Given the description of an element on the screen output the (x, y) to click on. 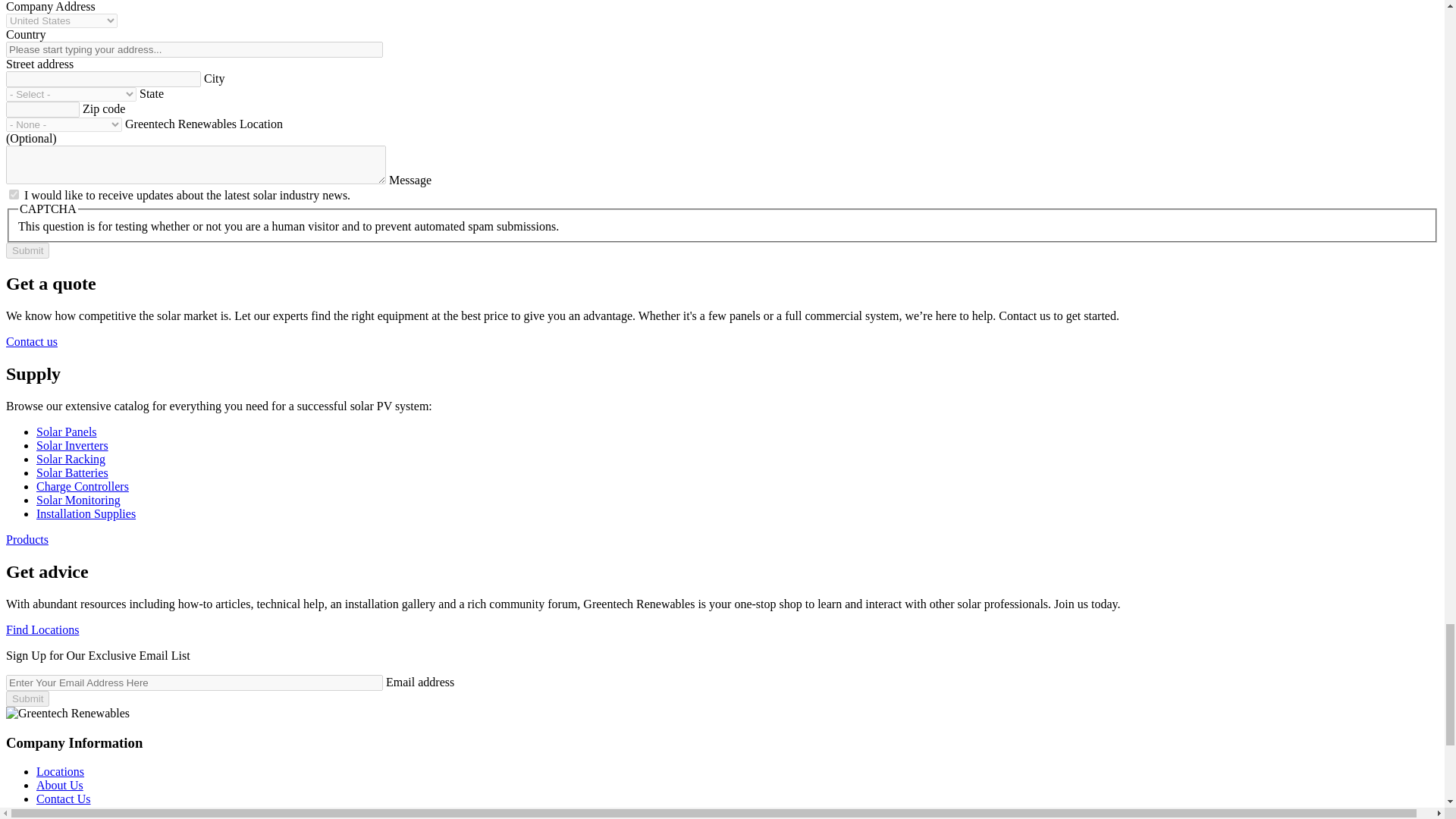
Find your local Greentech Renewables (41, 629)
